Given the description of an element on the screen output the (x, y) to click on. 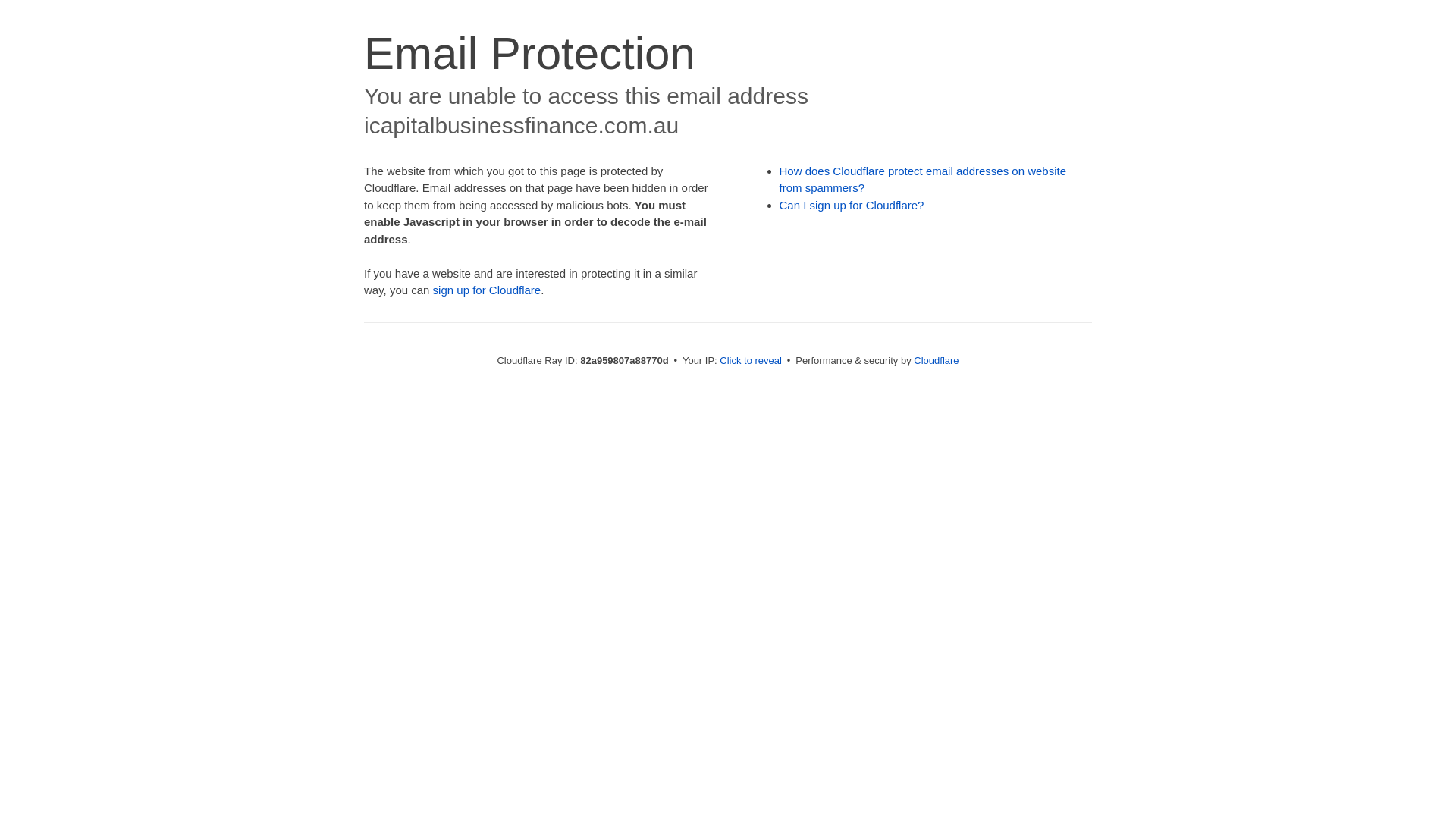
Cloudflare Element type: text (935, 360)
sign up for Cloudflare Element type: text (487, 289)
Click to reveal Element type: text (750, 360)
Can I sign up for Cloudflare? Element type: text (851, 204)
